Given the description of an element on the screen output the (x, y) to click on. 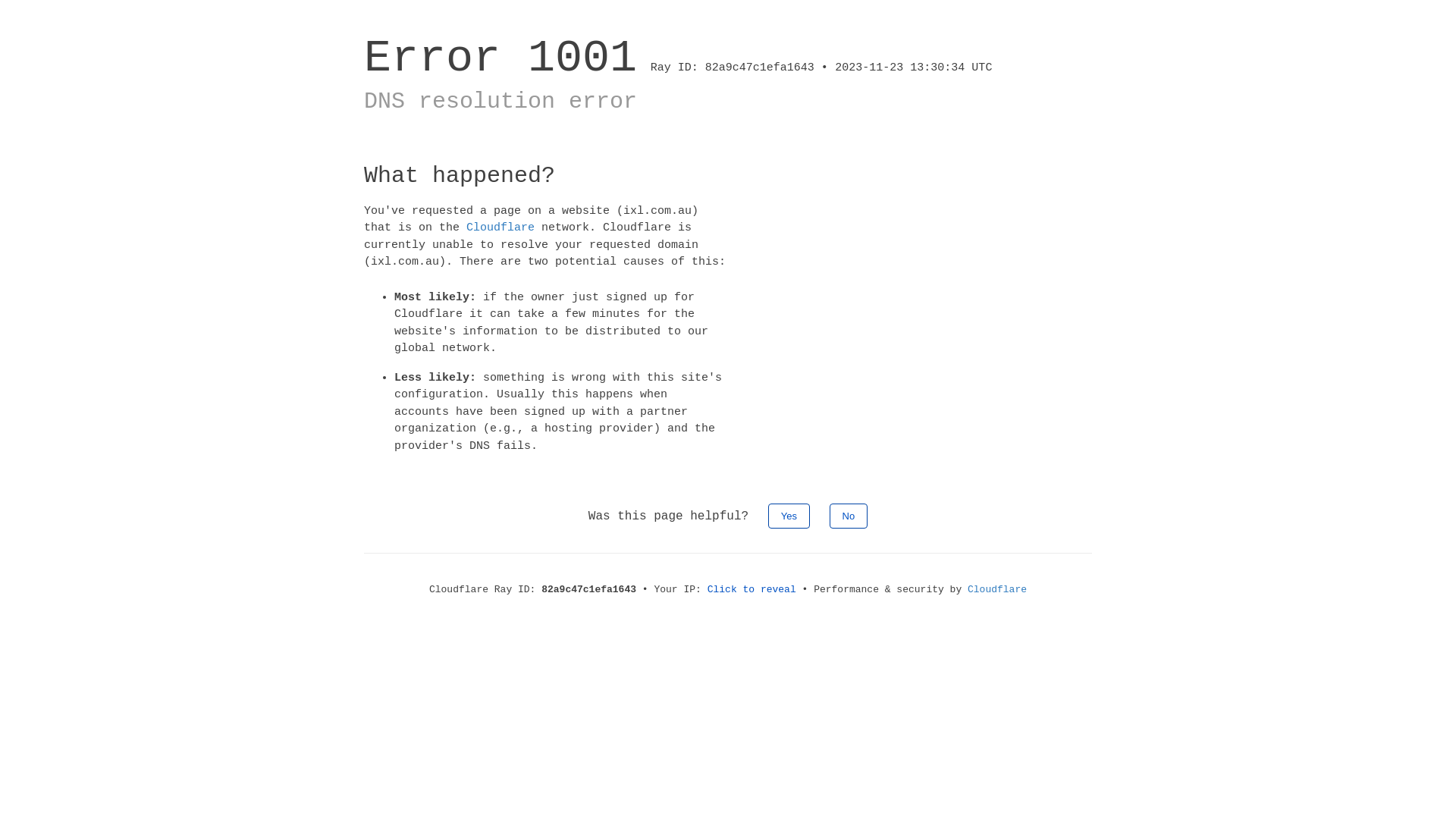
Click to reveal Element type: text (751, 589)
Yes Element type: text (788, 515)
Cloudflare Element type: text (996, 589)
Cloudflare Element type: text (500, 227)
No Element type: text (848, 515)
